Given the description of an element on the screen output the (x, y) to click on. 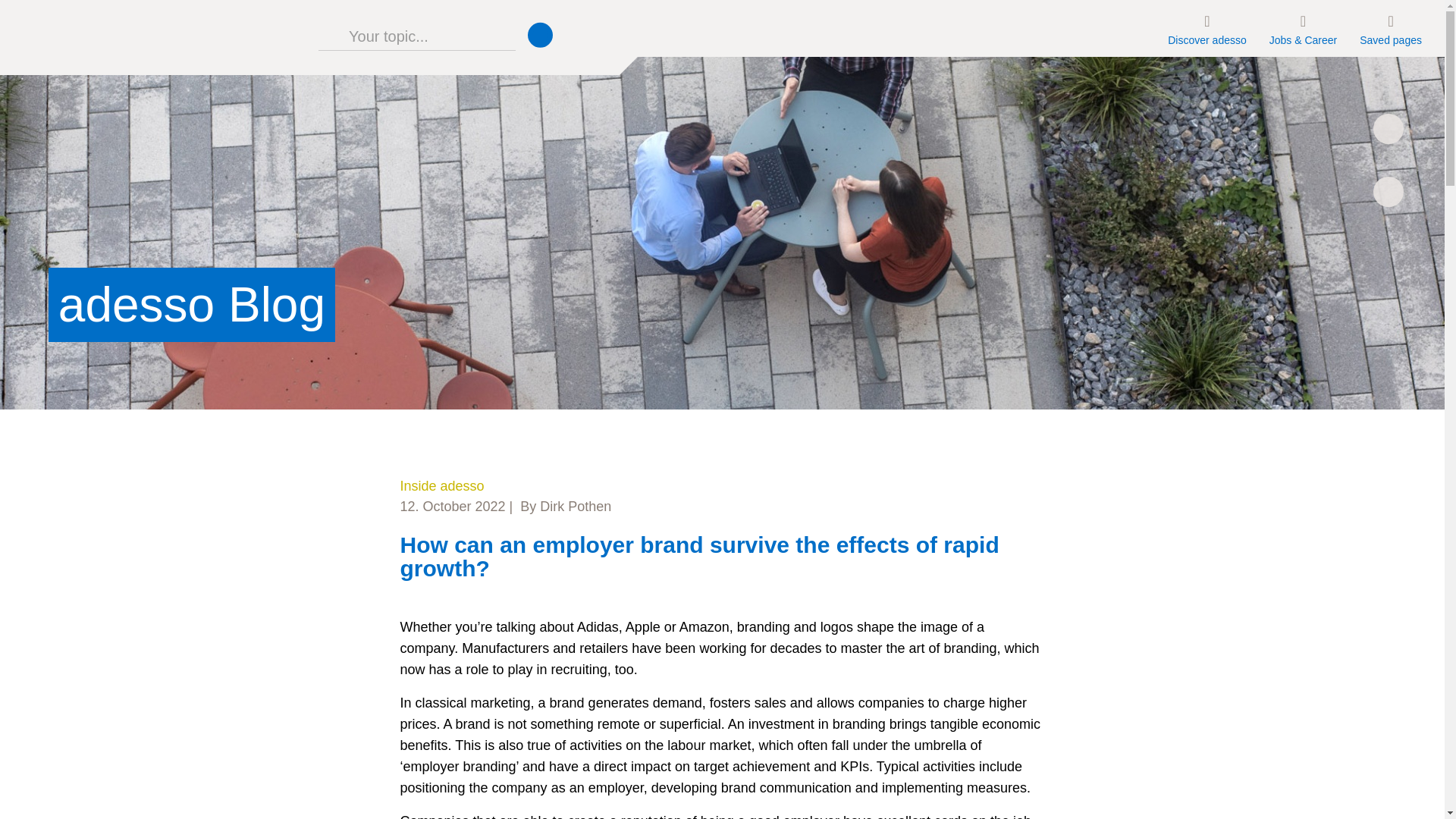
Discover adesso (1206, 28)
Saved pages (1390, 28)
